Given the description of an element on the screen output the (x, y) to click on. 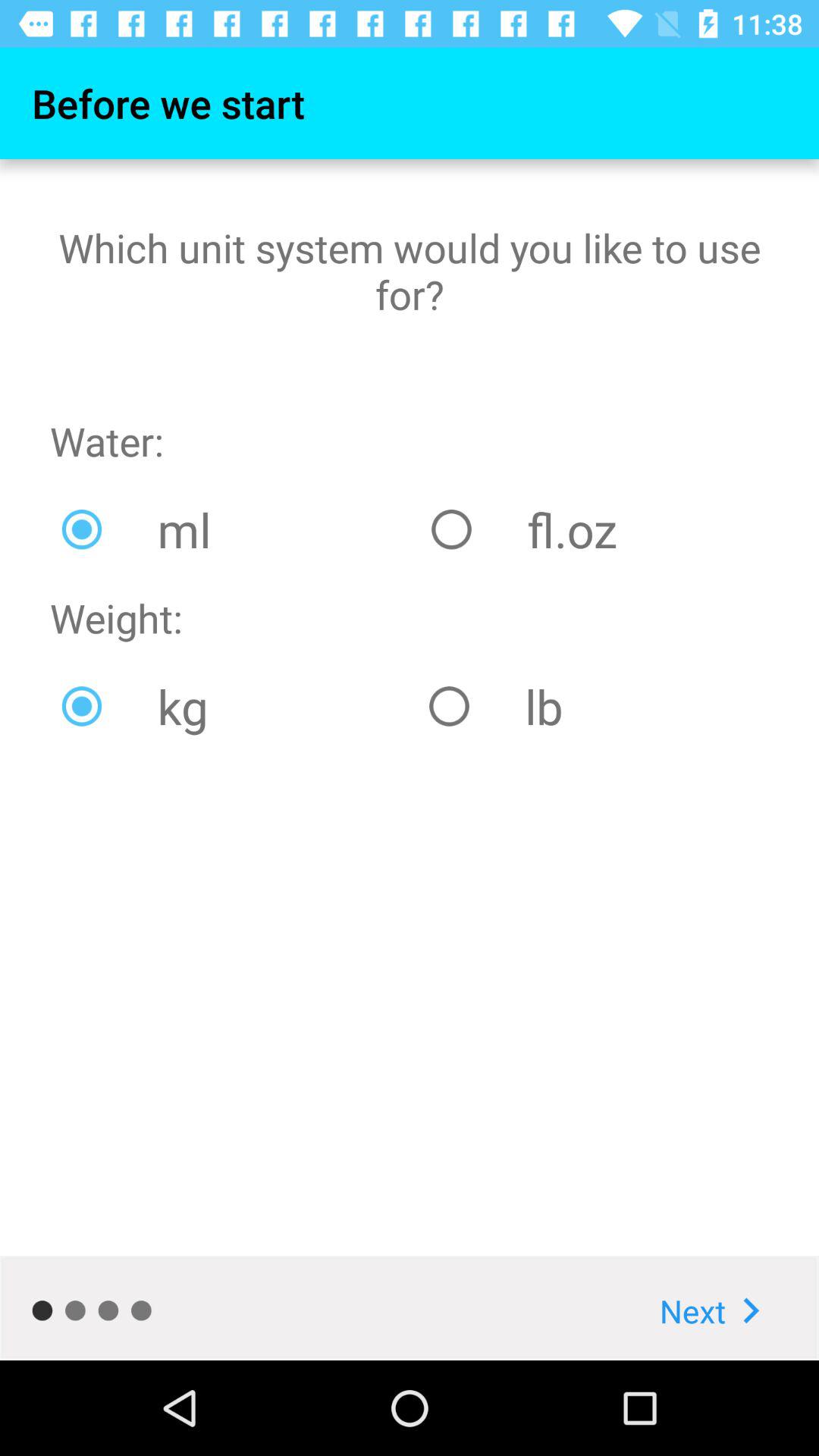
launch the icon to the left of the fl.oz (234, 529)
